Given the description of an element on the screen output the (x, y) to click on. 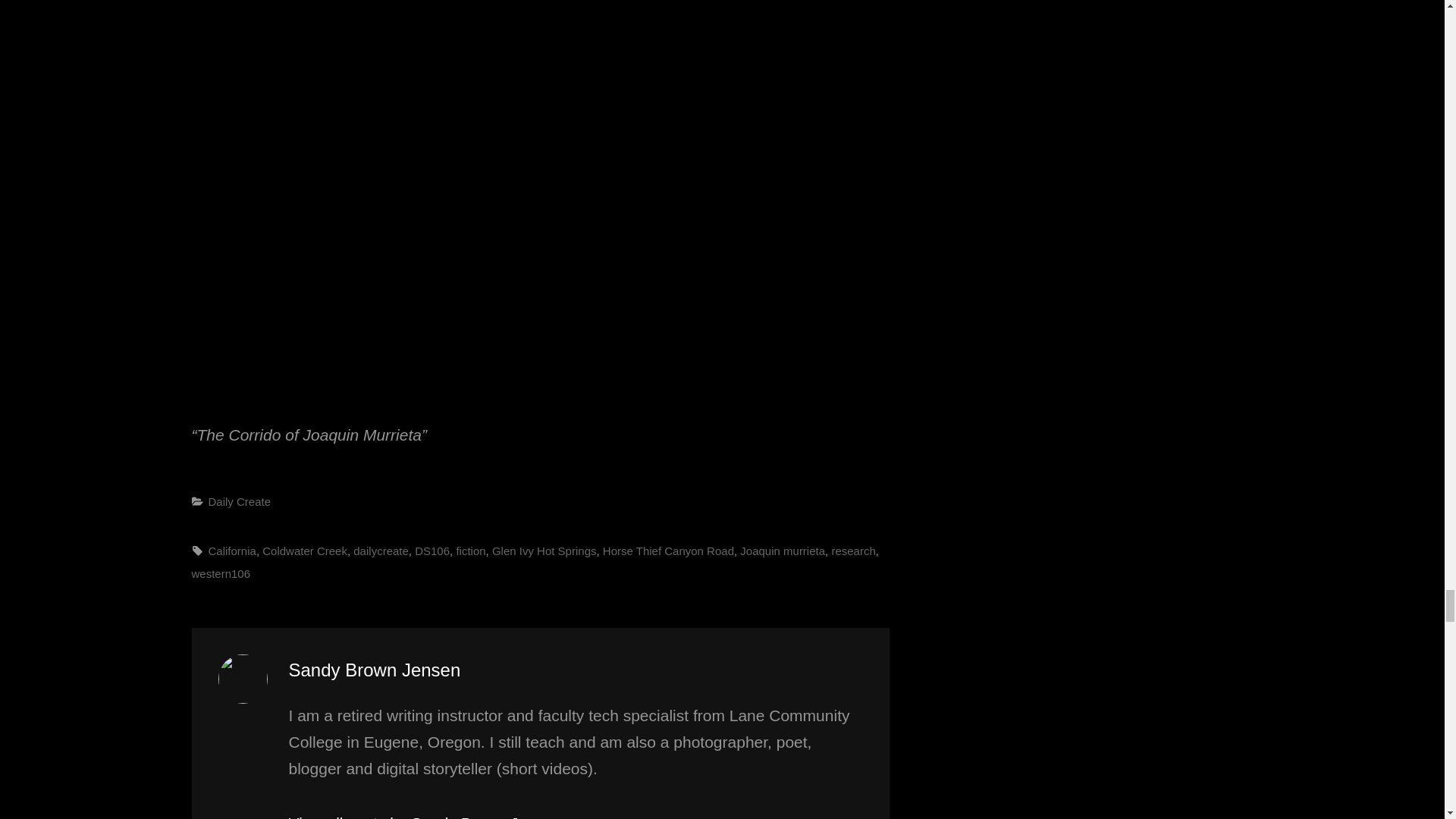
Glen Ivy Hot Springs (544, 550)
Coldwater Creek (304, 550)
California (232, 550)
Daily Create (239, 501)
dailycreate (381, 550)
DS106 (431, 550)
fiction (469, 550)
